Given the description of an element on the screen output the (x, y) to click on. 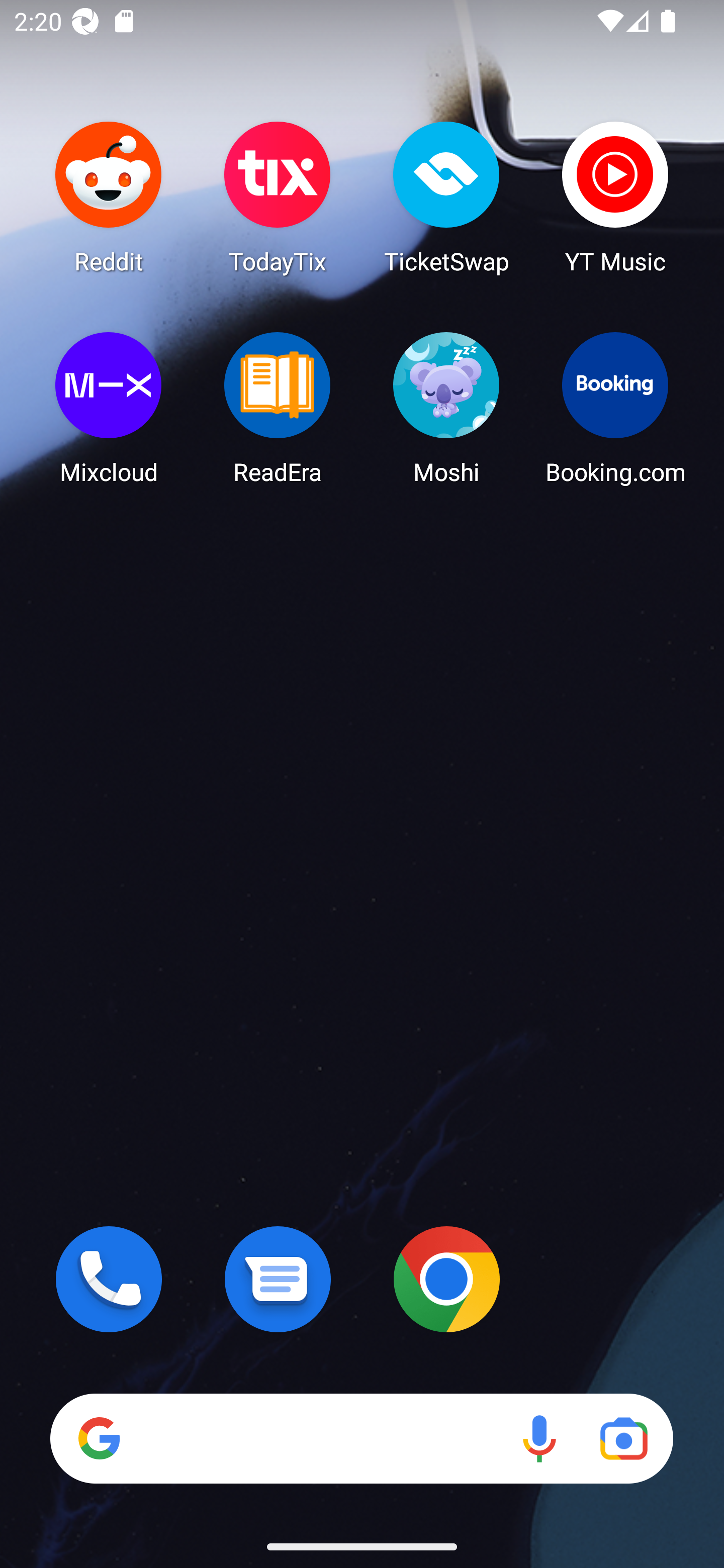
Reddit (108, 196)
TodayTix (277, 196)
TicketSwap (445, 196)
YT Music (615, 196)
Mixcloud (108, 407)
ReadEra (277, 407)
Moshi (445, 407)
Booking.com (615, 407)
Phone (108, 1279)
Messages (277, 1279)
Chrome (446, 1279)
Search Voice search Google Lens (361, 1438)
Voice search (539, 1438)
Google Lens (623, 1438)
